Given the description of an element on the screen output the (x, y) to click on. 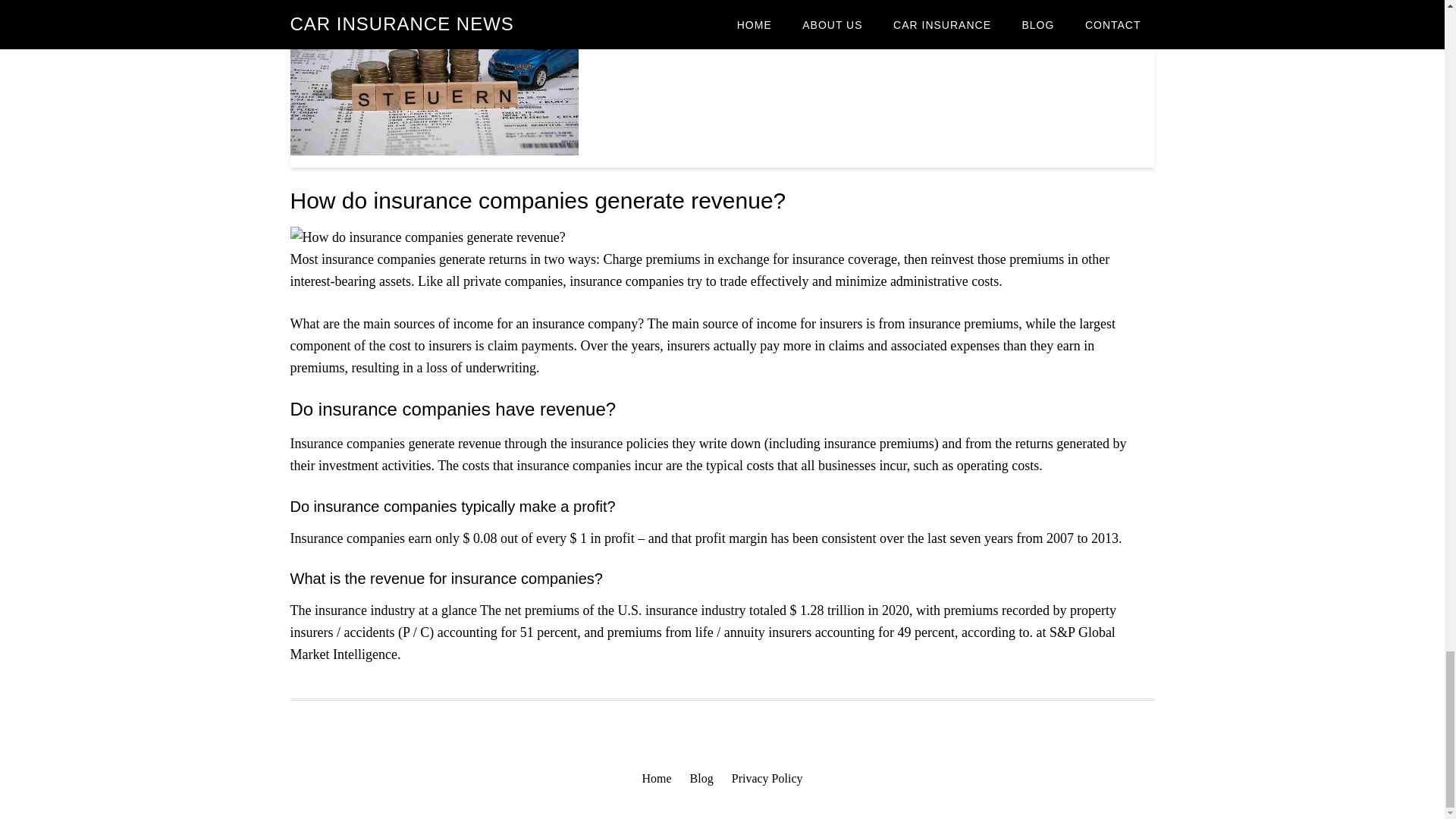
Privacy Policy (767, 778)
Blog (701, 778)
Home (656, 778)
